Given the description of an element on the screen output the (x, y) to click on. 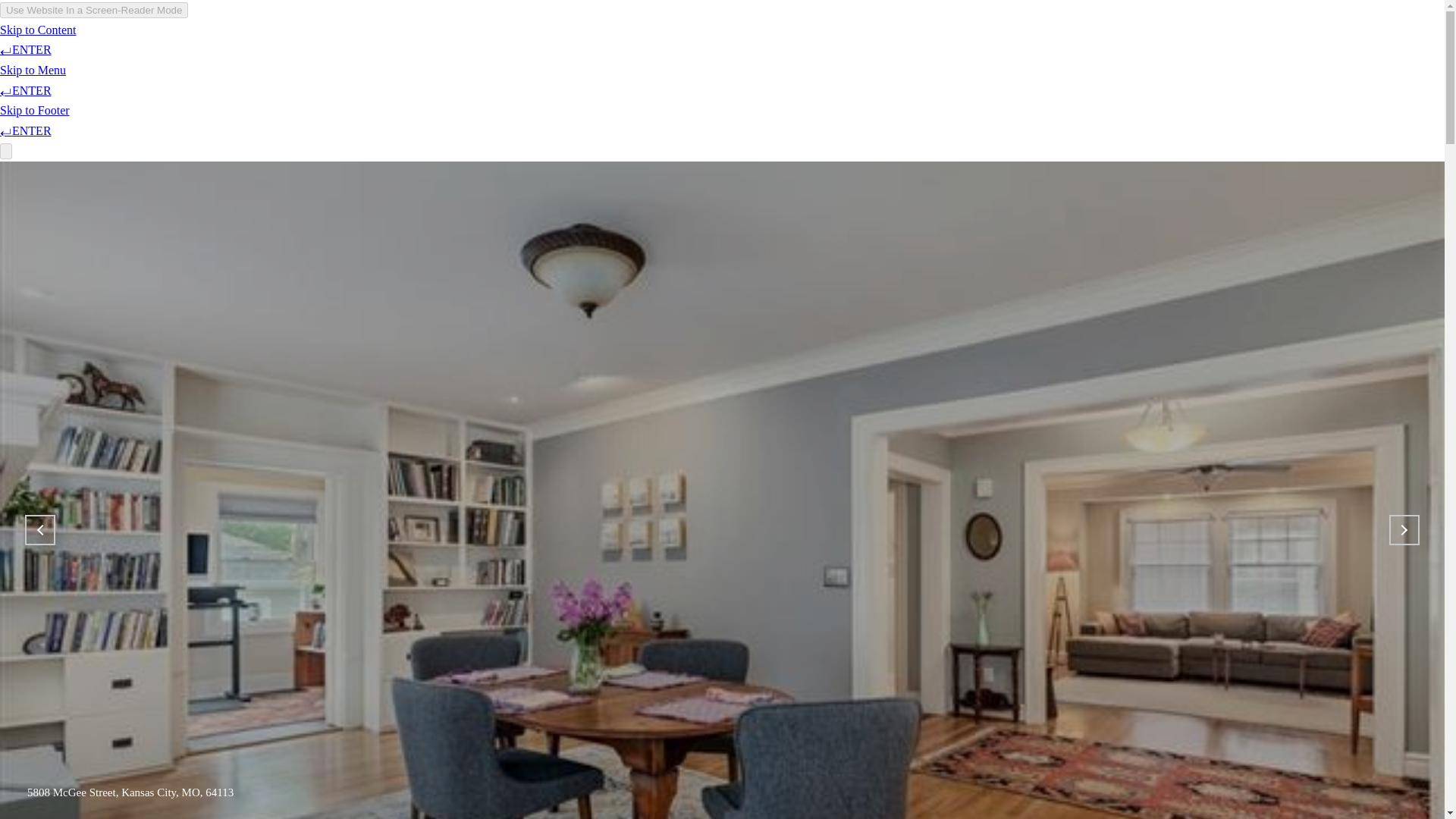
ABOUT LIVINKC (477, 55)
NEIGHBORHOODS (798, 55)
HOME SEARCH (682, 55)
TESTIMONIALS (914, 55)
CONTACT US (1159, 55)
MICKEY'S MIDTOWN (1040, 55)
PROPERTIES (581, 55)
